Given the description of an element on the screen output the (x, y) to click on. 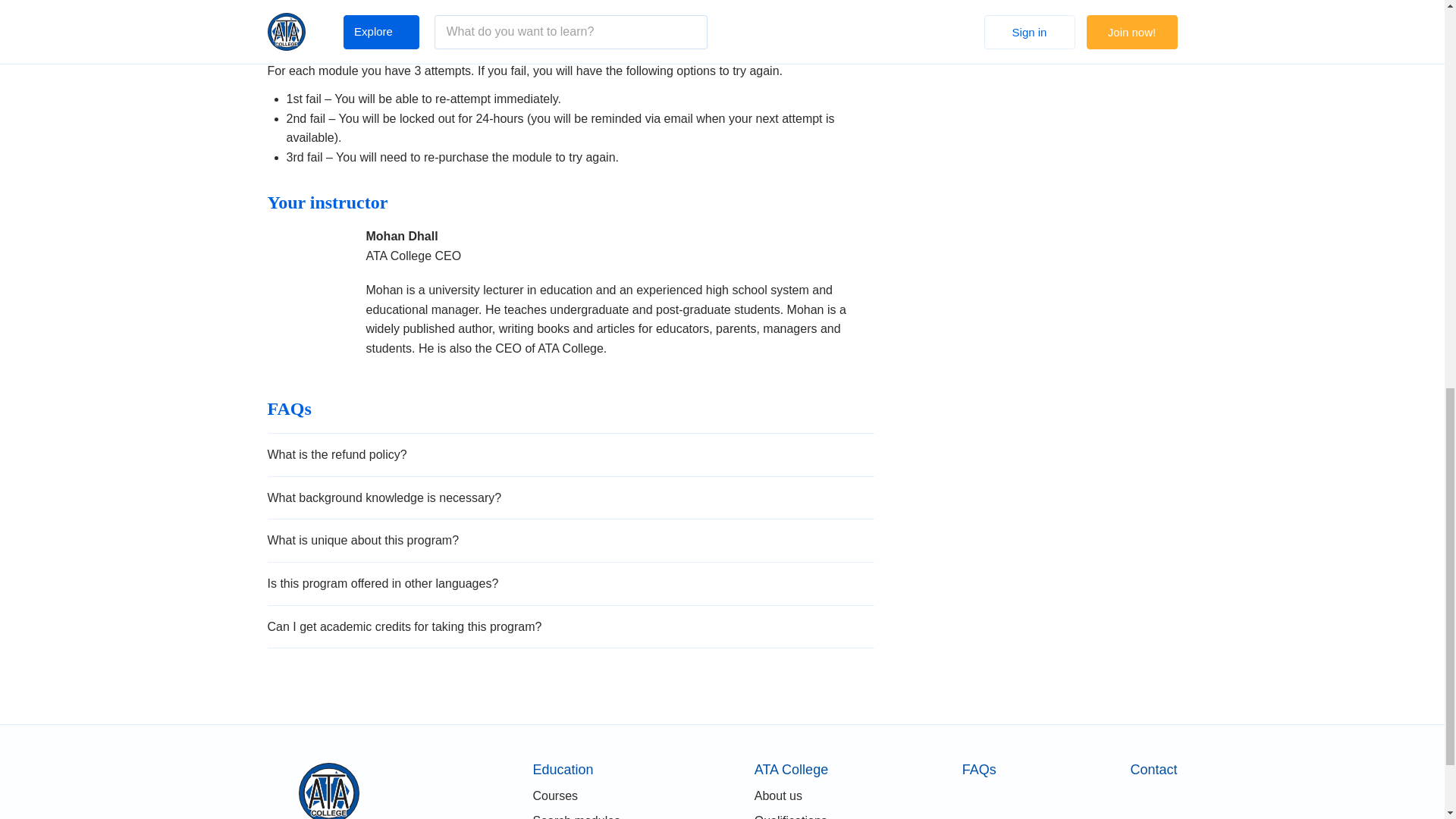
Education (576, 769)
